Given the description of an element on the screen output the (x, y) to click on. 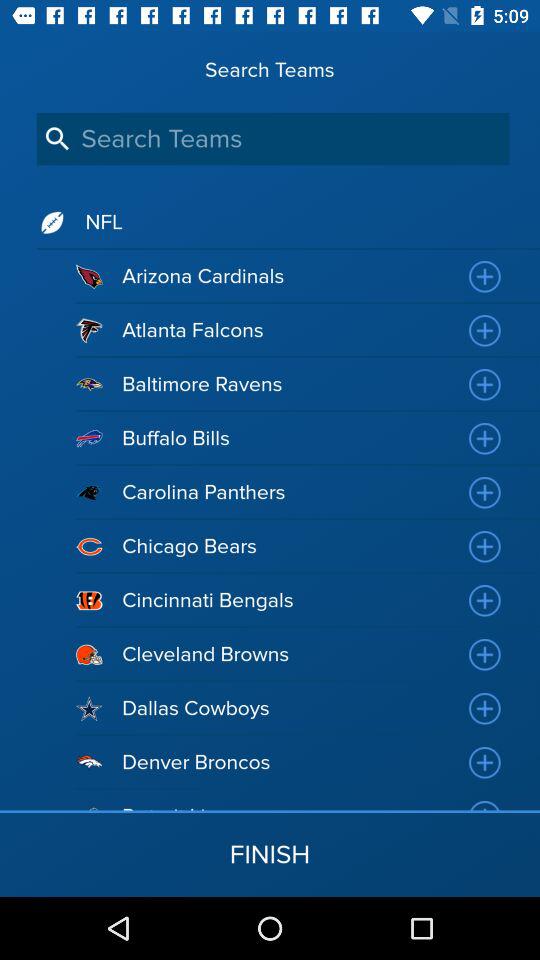
tap the item below search teams icon (272, 138)
